Given the description of an element on the screen output the (x, y) to click on. 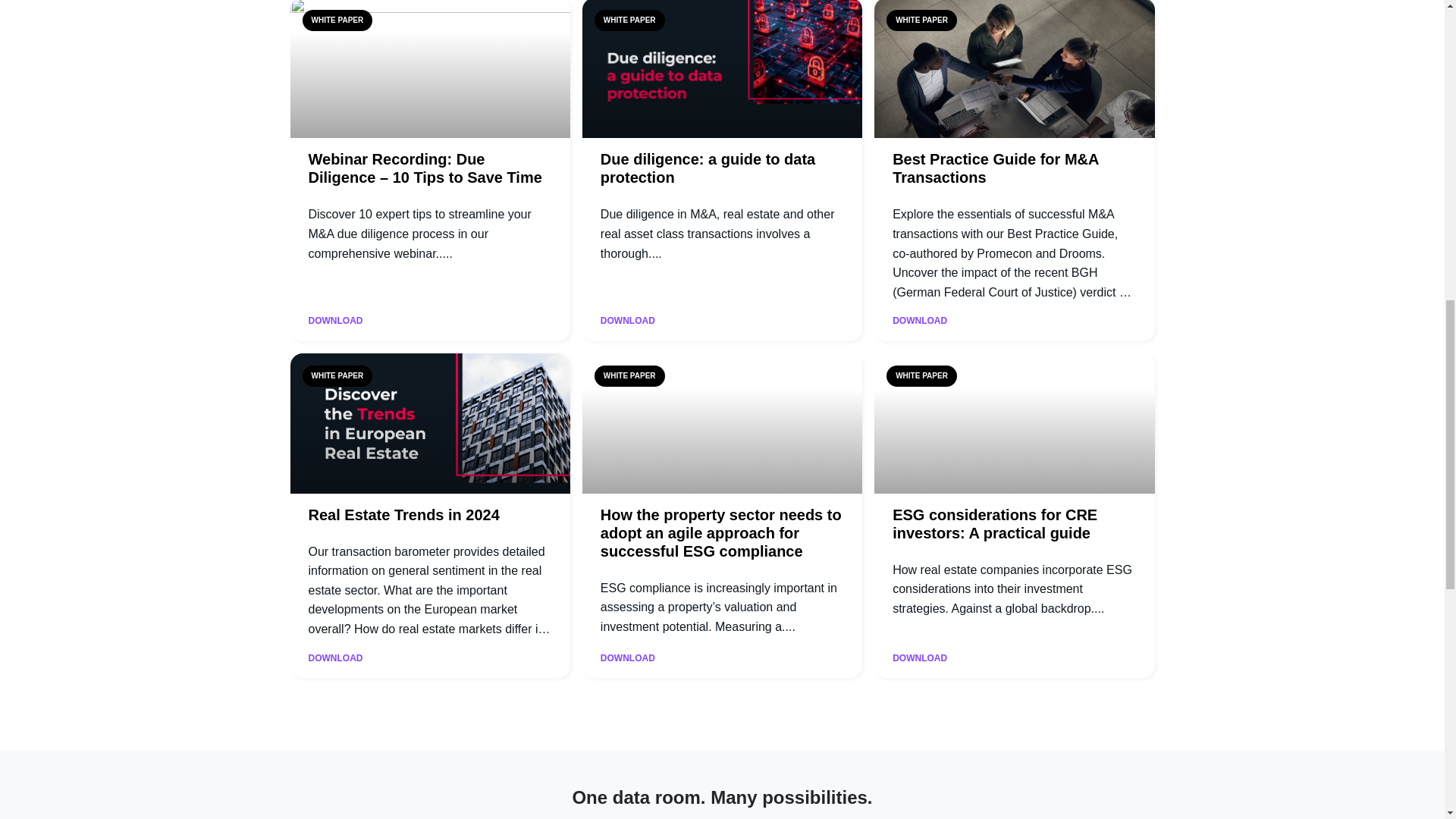
DOWNLOAD (627, 320)
DOWNLOAD (334, 320)
Due diligence: a guide to data protection (707, 167)
